Given the description of an element on the screen output the (x, y) to click on. 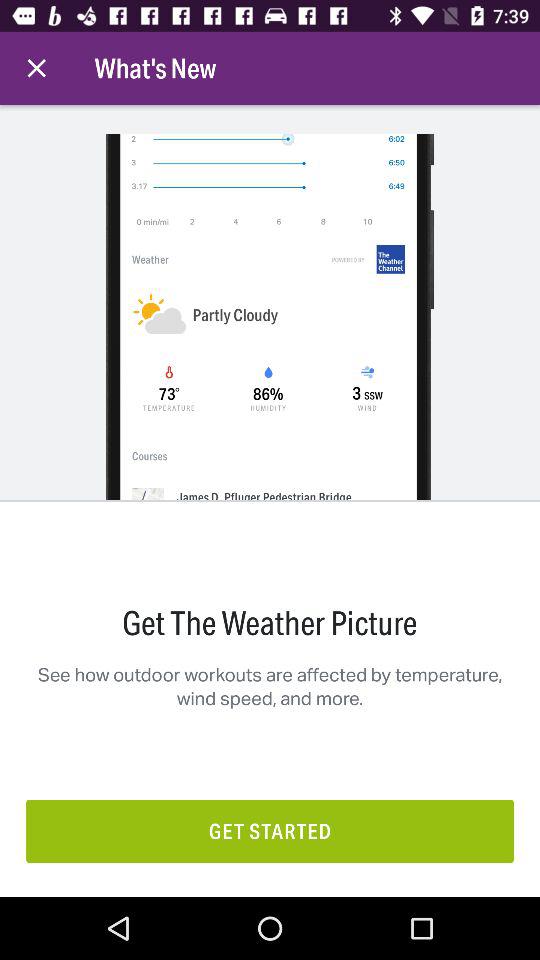
choose icon below the see how outdoor item (269, 830)
